Given the description of an element on the screen output the (x, y) to click on. 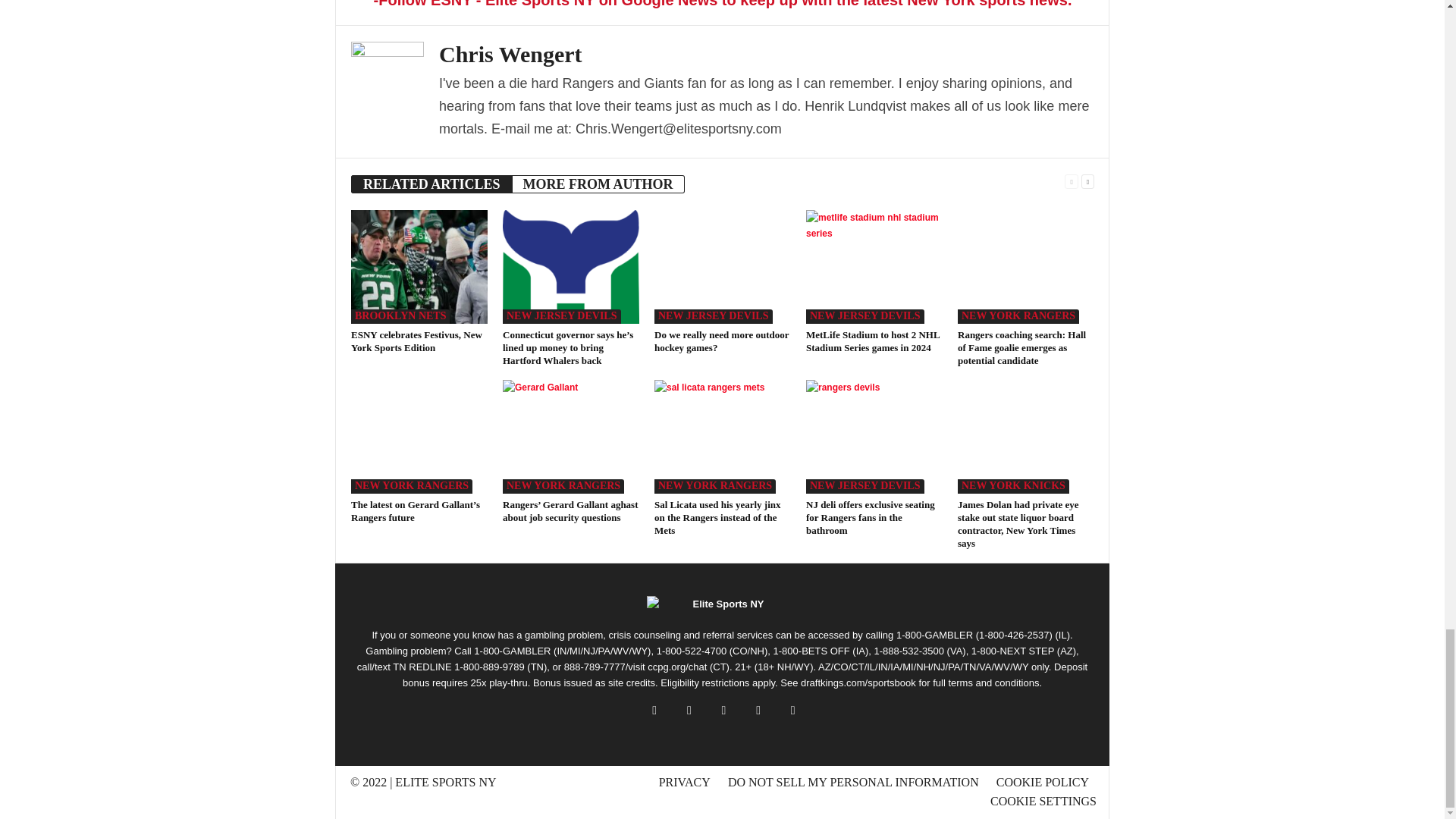
ESNY celebrates Festivus, New York Sports Edition (418, 266)
ESNY celebrates Festivus, New York Sports Edition (415, 340)
